Given the description of an element on the screen output the (x, y) to click on. 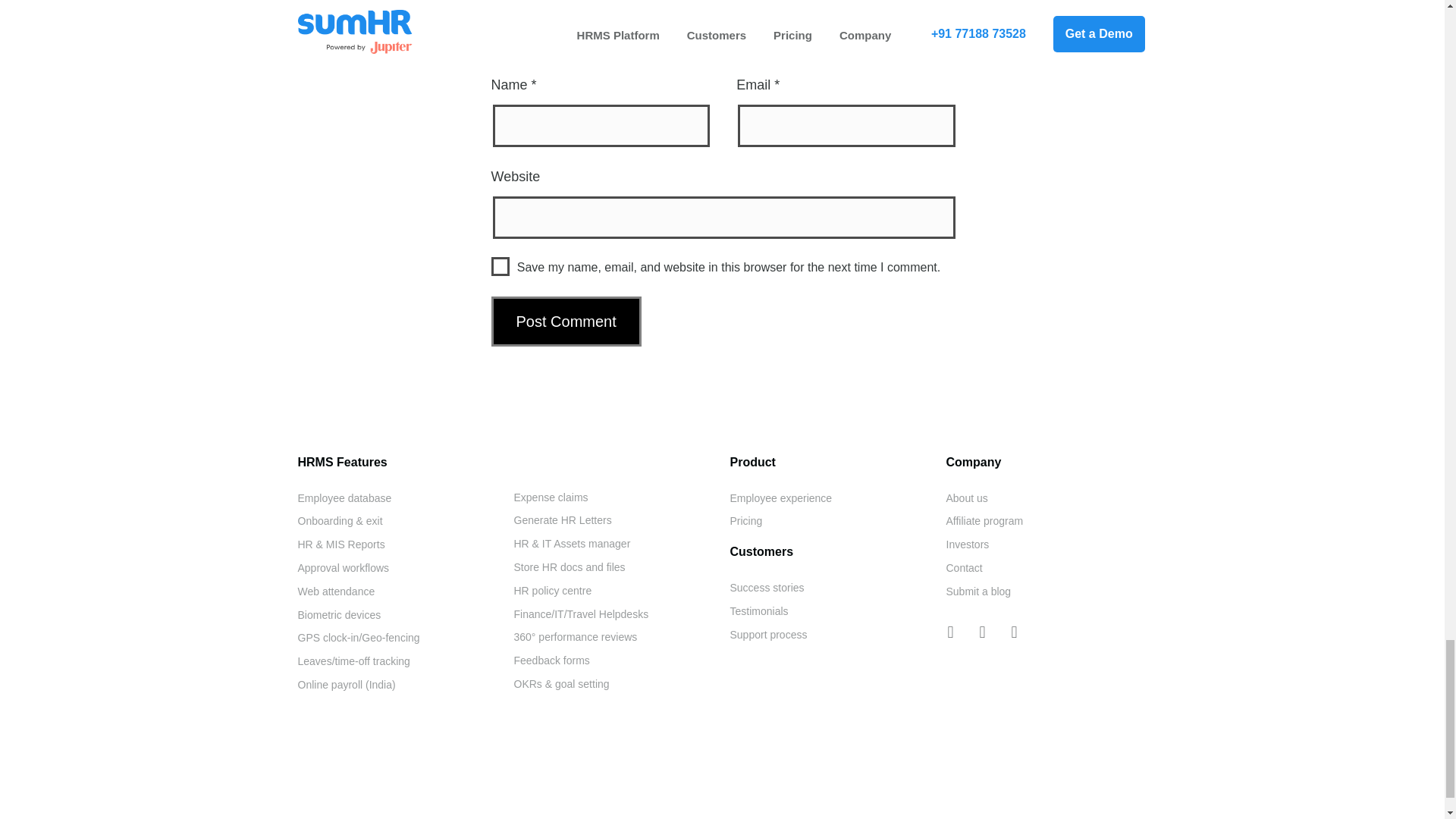
yes (500, 266)
Post Comment (567, 321)
